Given the description of an element on the screen output the (x, y) to click on. 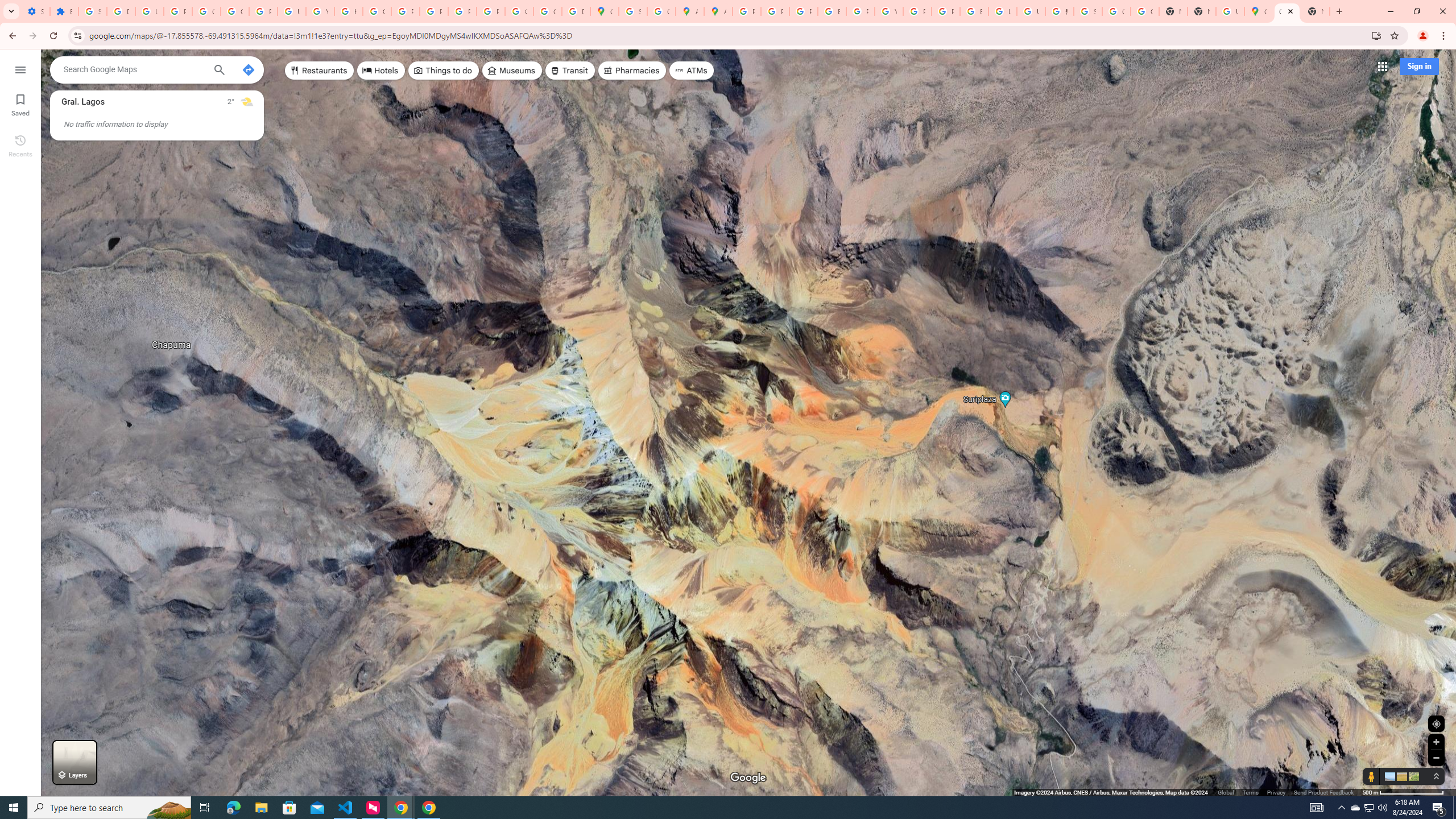
Extensions (63, 11)
Zoom in (1436, 741)
New Tab (1201, 11)
Privacy Help Center - Policies Help (774, 11)
Policy Accountability and Transparency - Transparency Center (746, 11)
Google Maps (1258, 11)
Zoom out (1436, 757)
